Given the description of an element on the screen output the (x, y) to click on. 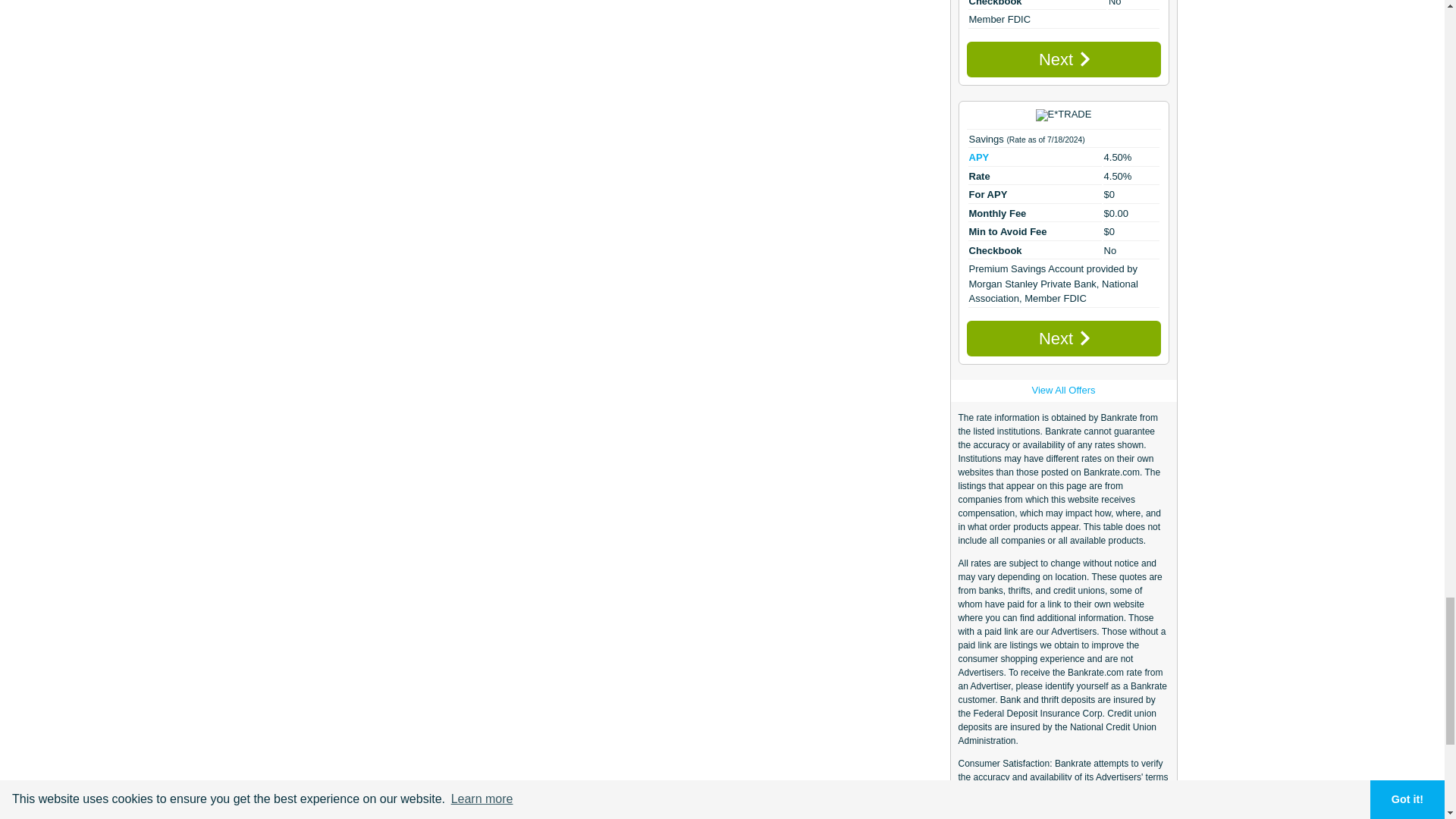
Next (1063, 338)
View All Offers (1062, 389)
Next (1063, 58)
